Given the description of an element on the screen output the (x, y) to click on. 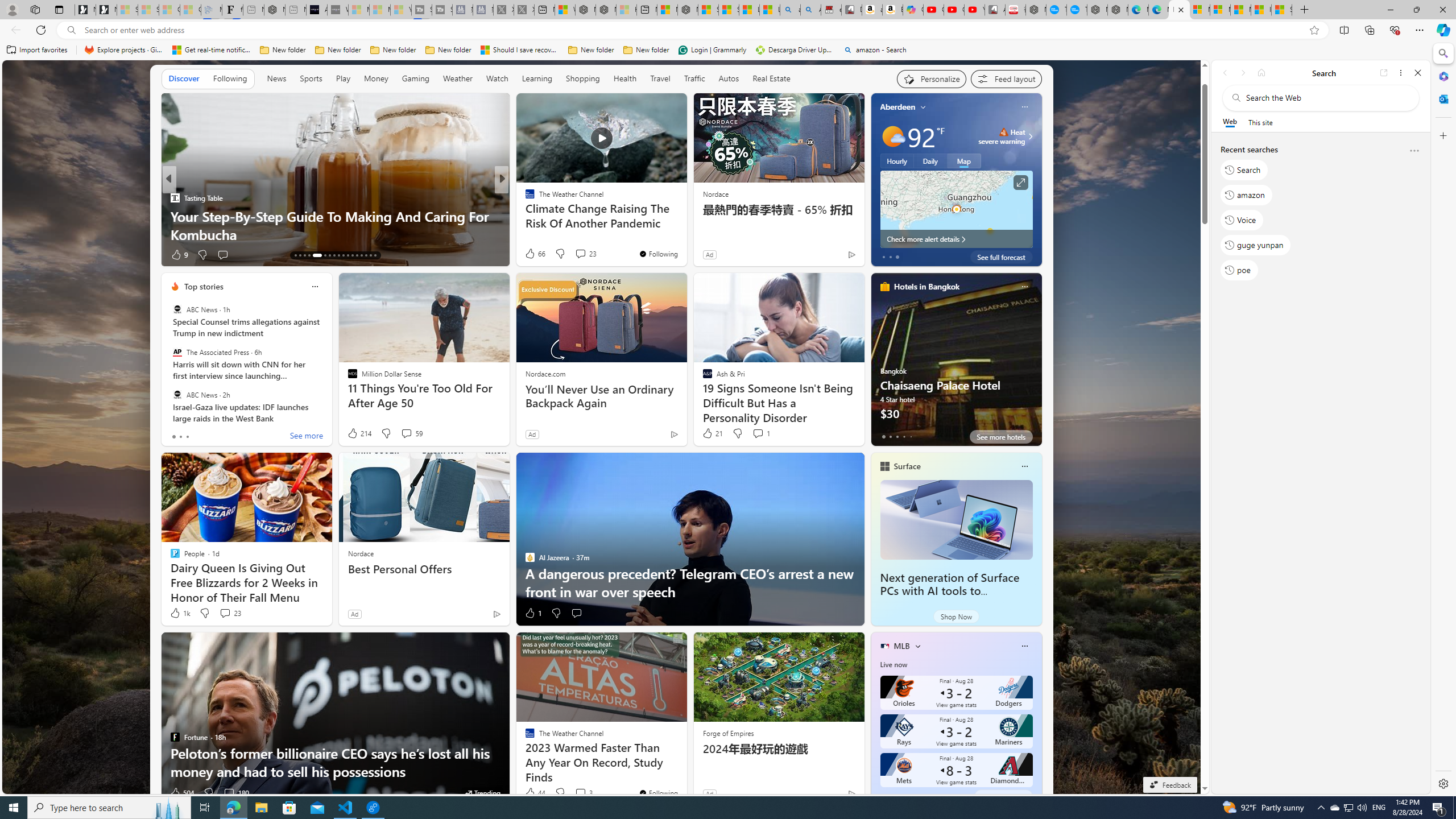
62 Like (530, 254)
Feed settings (1005, 78)
AutomationID: backgroundImagePicture (601, 426)
AutomationID: tab-19 (329, 255)
Personalize your feed" (931, 78)
